Given the description of an element on the screen output the (x, y) to click on. 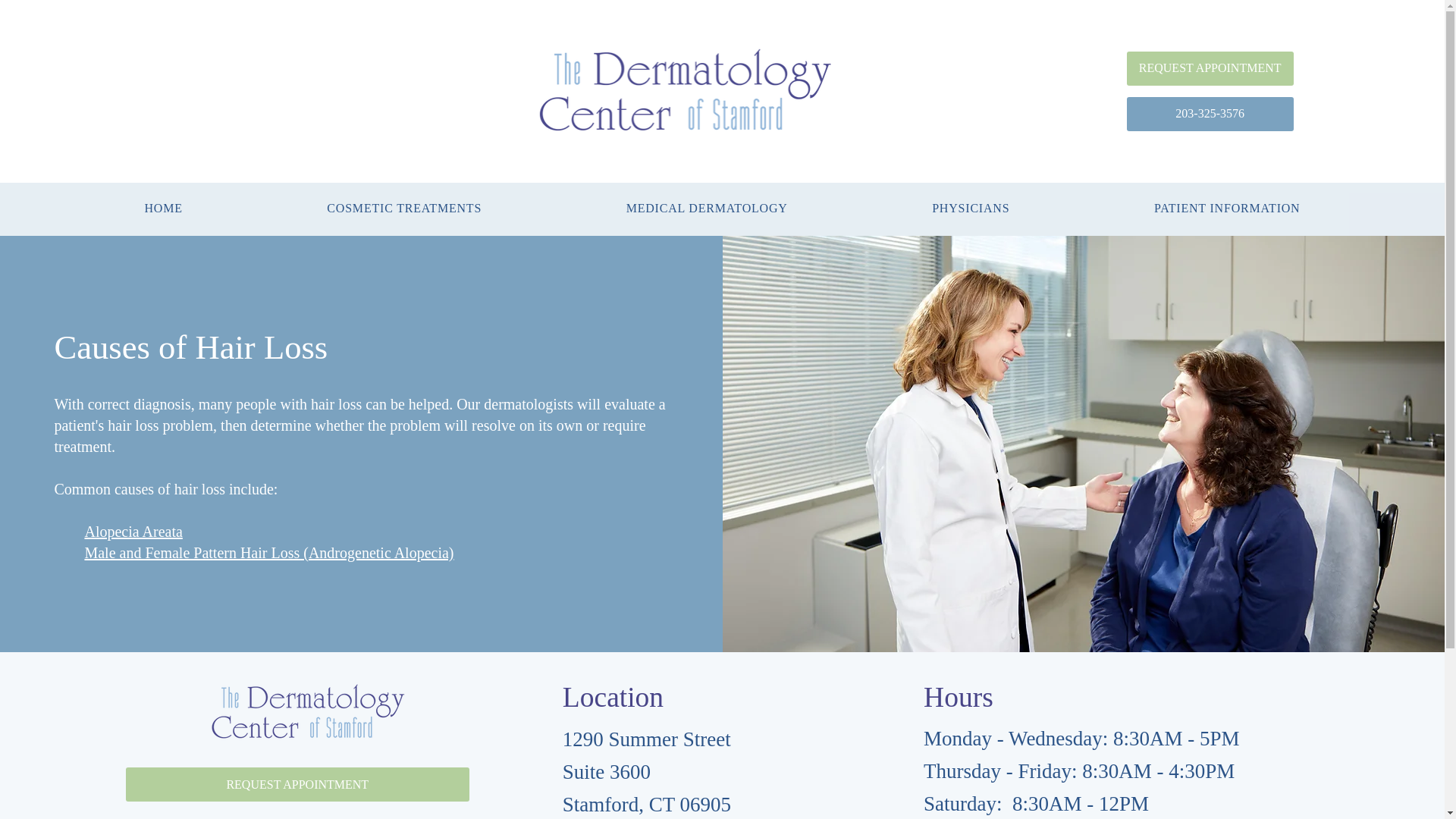
Alopecia Areata (133, 531)
REQUEST APPOINTMENT (296, 784)
HOME (162, 208)
REQUEST APPOINTMENT (1210, 68)
PATIENT INFORMATION (1227, 208)
203-325-3576 (1210, 114)
